Given the description of an element on the screen output the (x, y) to click on. 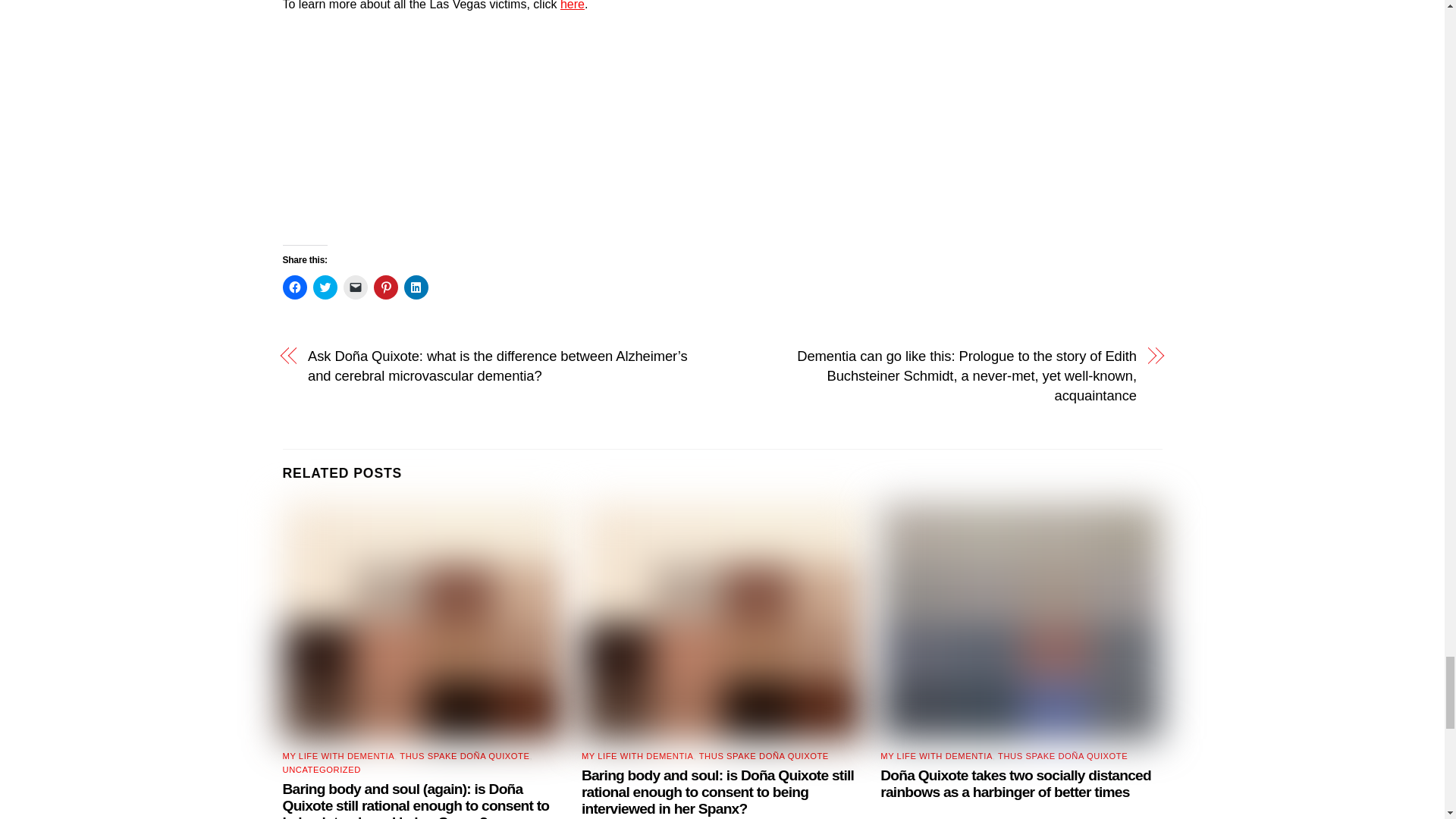
double rainbow (1020, 622)
Click to share on LinkedIn (415, 287)
Click to share on Twitter (324, 287)
Click to email a link to a friend (354, 287)
here (572, 5)
Click to share on Facebook (293, 287)
Click to share on Pinterest (384, 287)
